Given the description of an element on the screen output the (x, y) to click on. 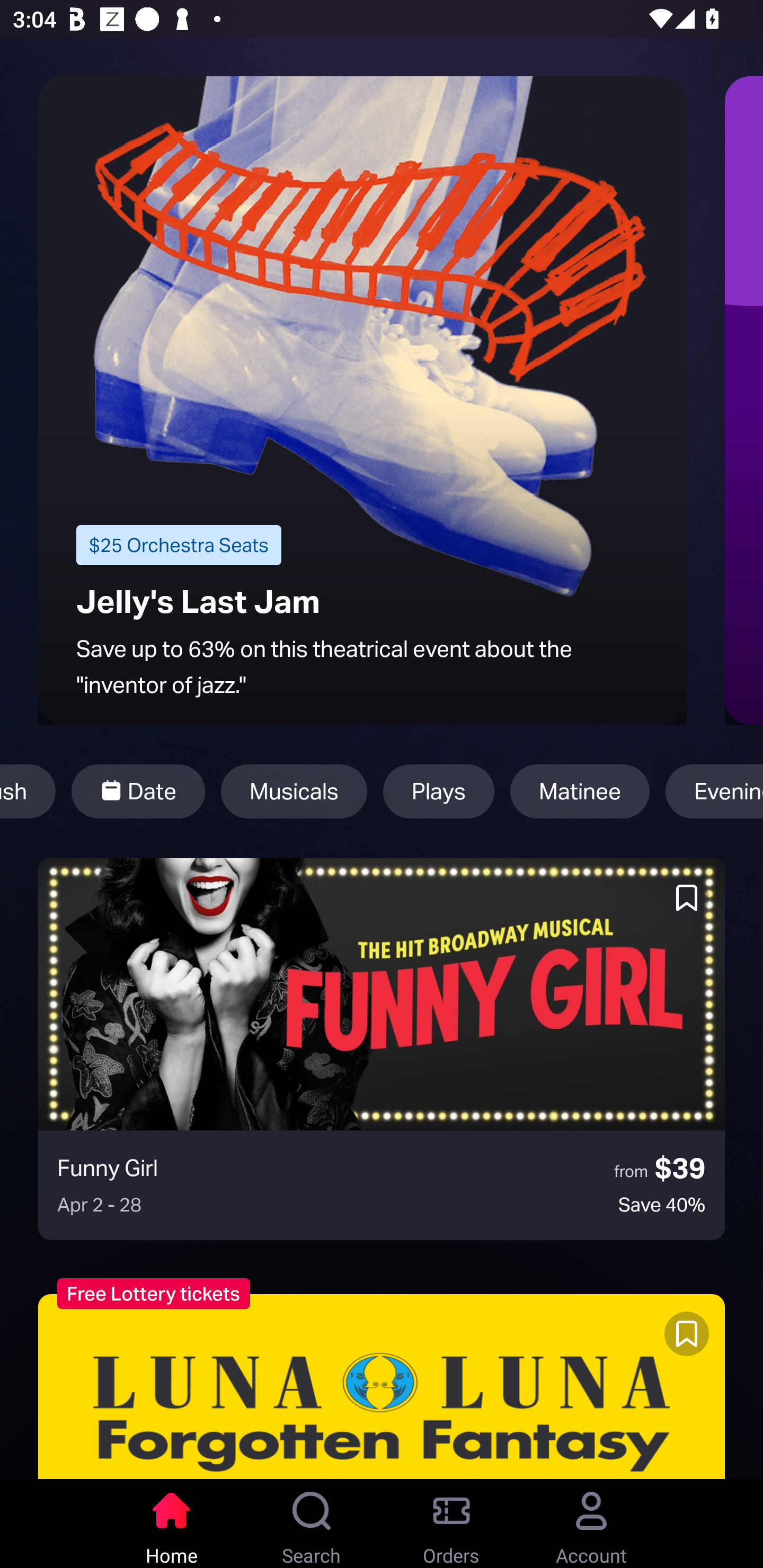
Date (138, 791)
Musicals (294, 791)
Plays (438, 791)
Matinee (579, 791)
Funny Girl from $39 Apr 2 - 28 Save 40% (381, 1048)
Search (311, 1523)
Orders (451, 1523)
Account (591, 1523)
